Given the description of an element on the screen output the (x, y) to click on. 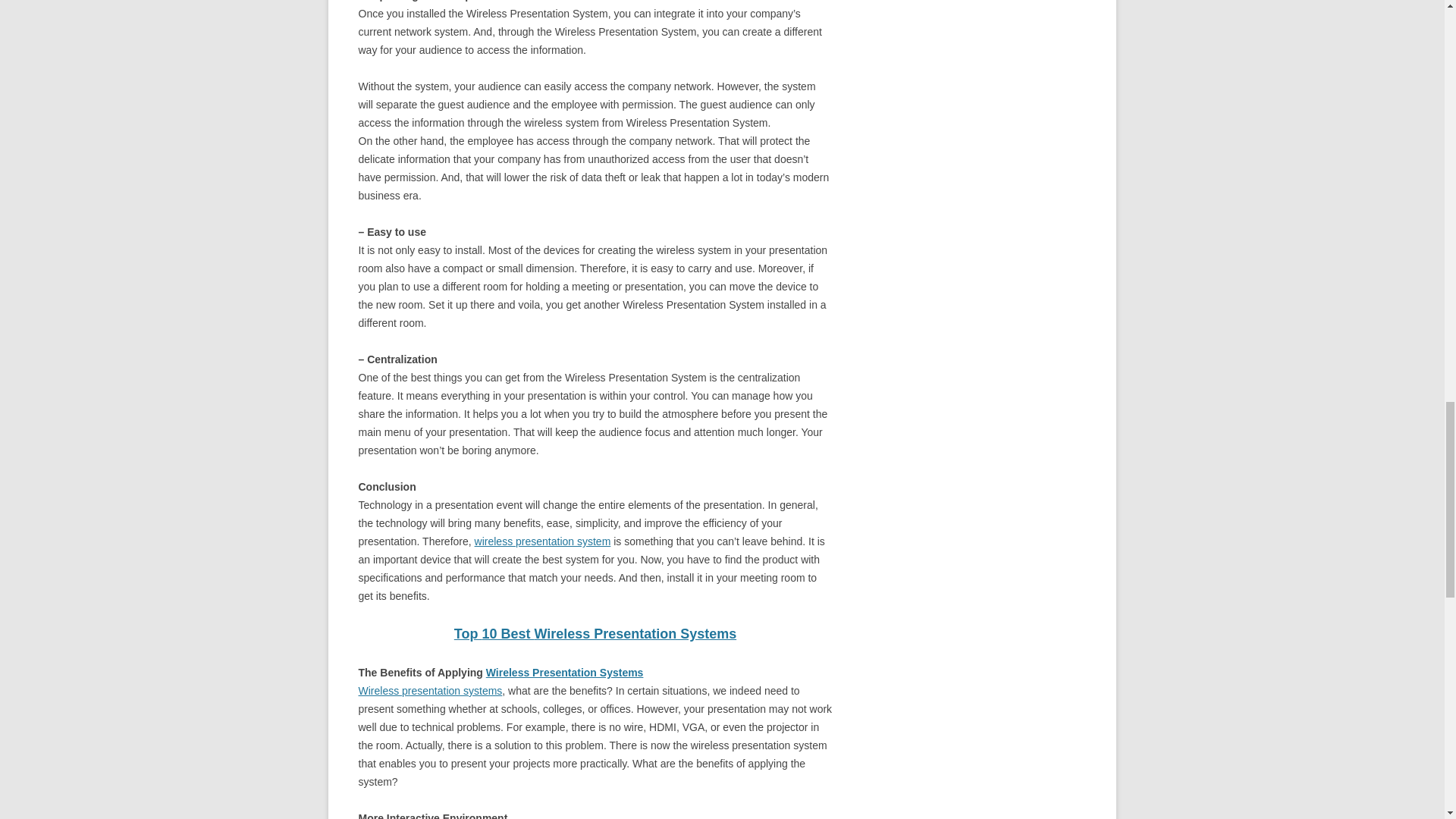
Wireless Presentation Systems (564, 672)
10 Best (507, 633)
wireless presentation system (542, 541)
Wireless presentation systems (430, 690)
Top (467, 633)
Wireless Presentation Systems (635, 633)
